Given the description of an element on the screen output the (x, y) to click on. 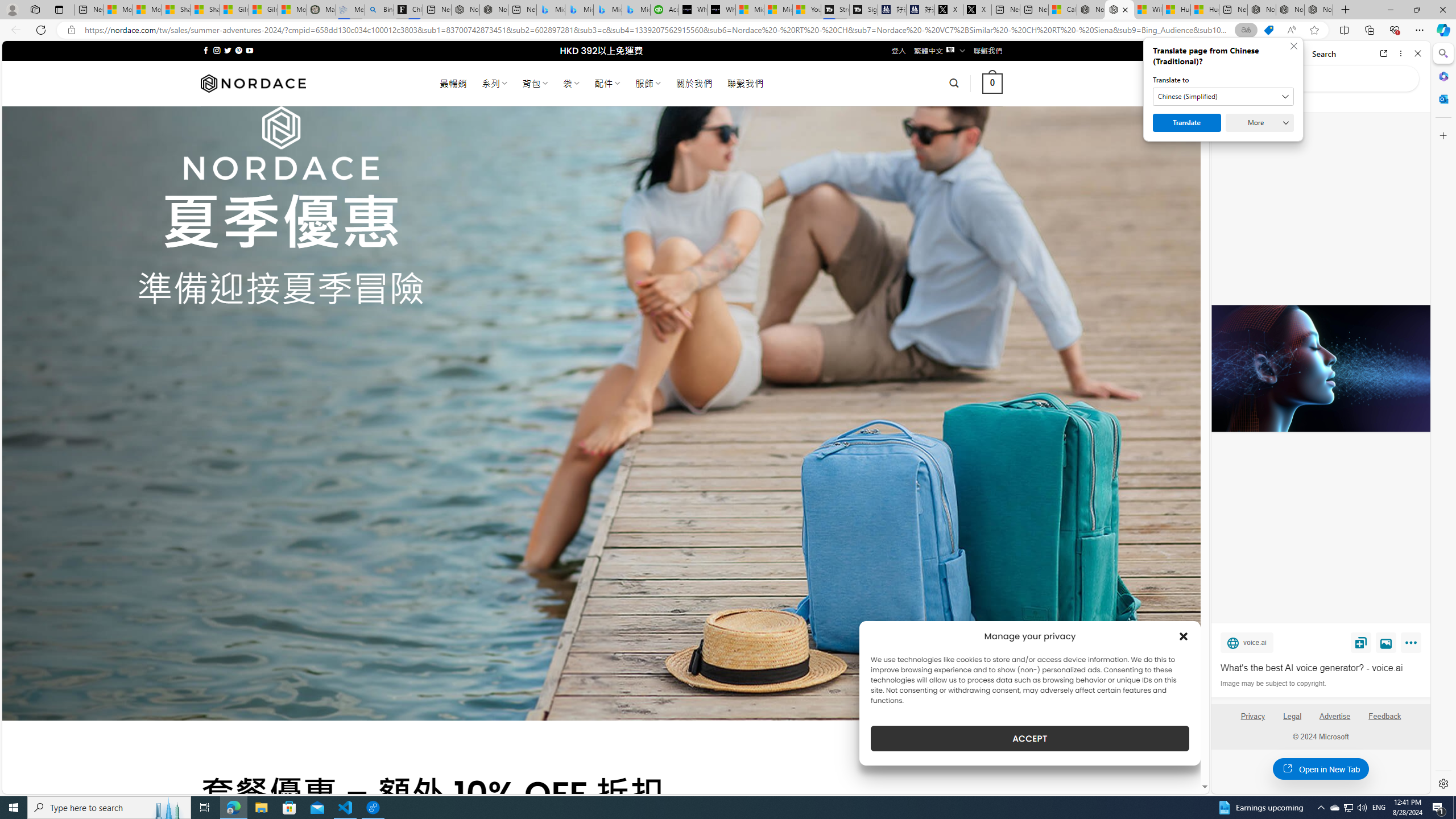
Open link in new tab (1383, 53)
